Given the description of an element on the screen output the (x, y) to click on. 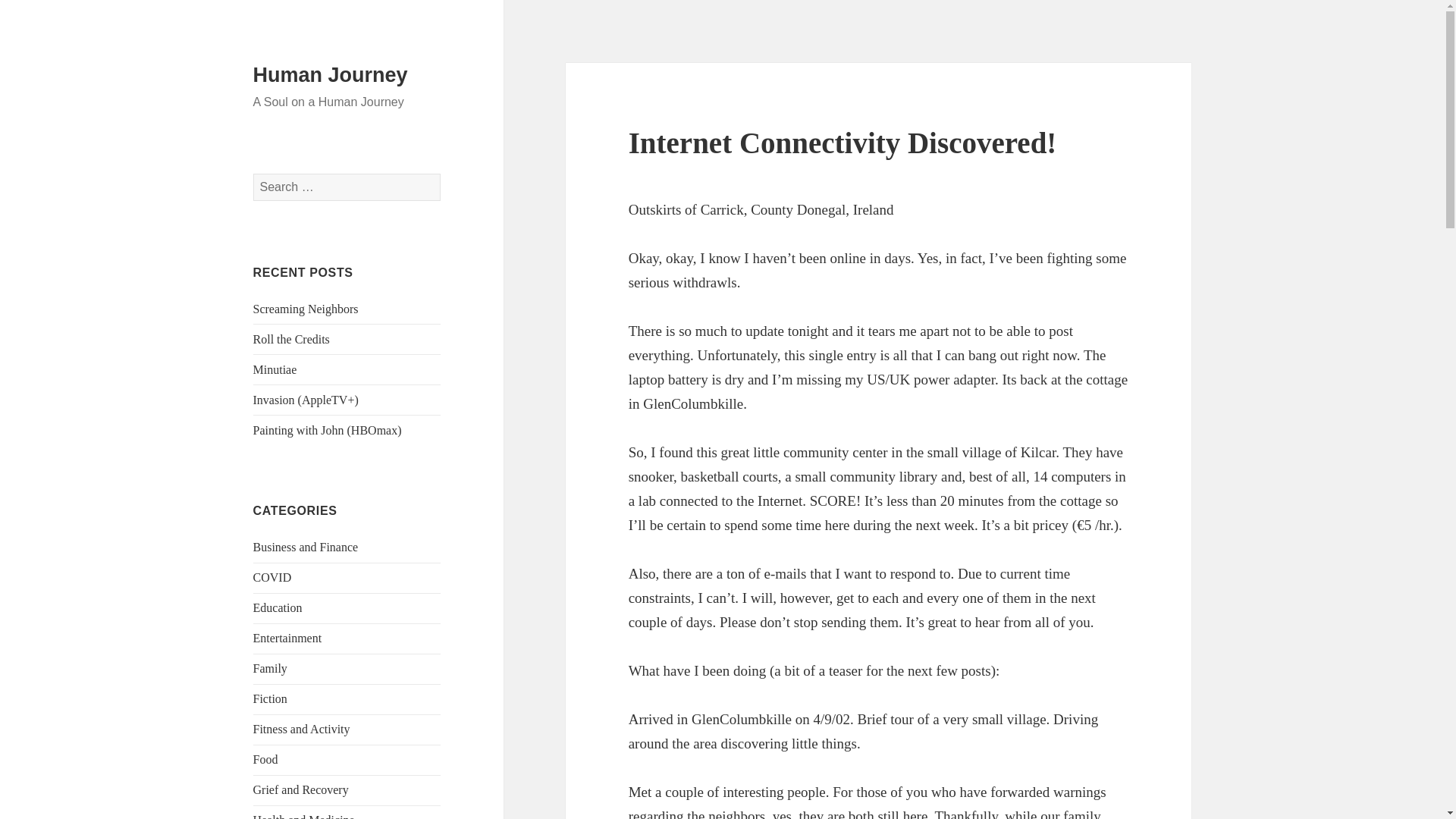
Human Journey (330, 74)
Family (269, 667)
Fiction (269, 698)
Grief and Recovery (301, 789)
COVID (272, 576)
Roll the Credits (291, 338)
Health and Medicine (304, 816)
Business and Finance (305, 546)
Food (265, 758)
Minutiae (275, 369)
Fitness and Activity (301, 728)
Screaming Neighbors (305, 308)
